Given the description of an element on the screen output the (x, y) to click on. 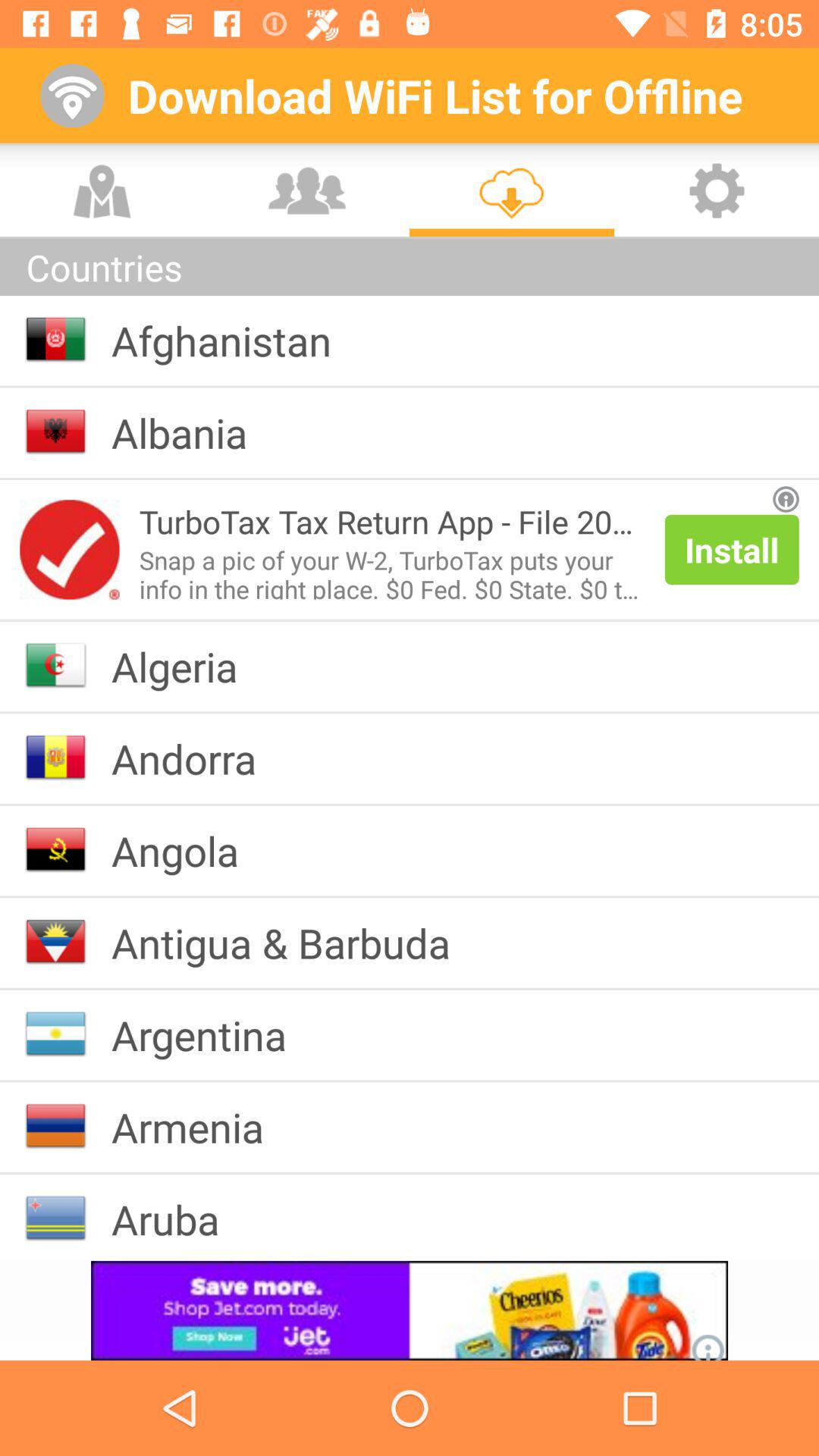
flip to the argentina app (210, 1034)
